Given the description of an element on the screen output the (x, y) to click on. 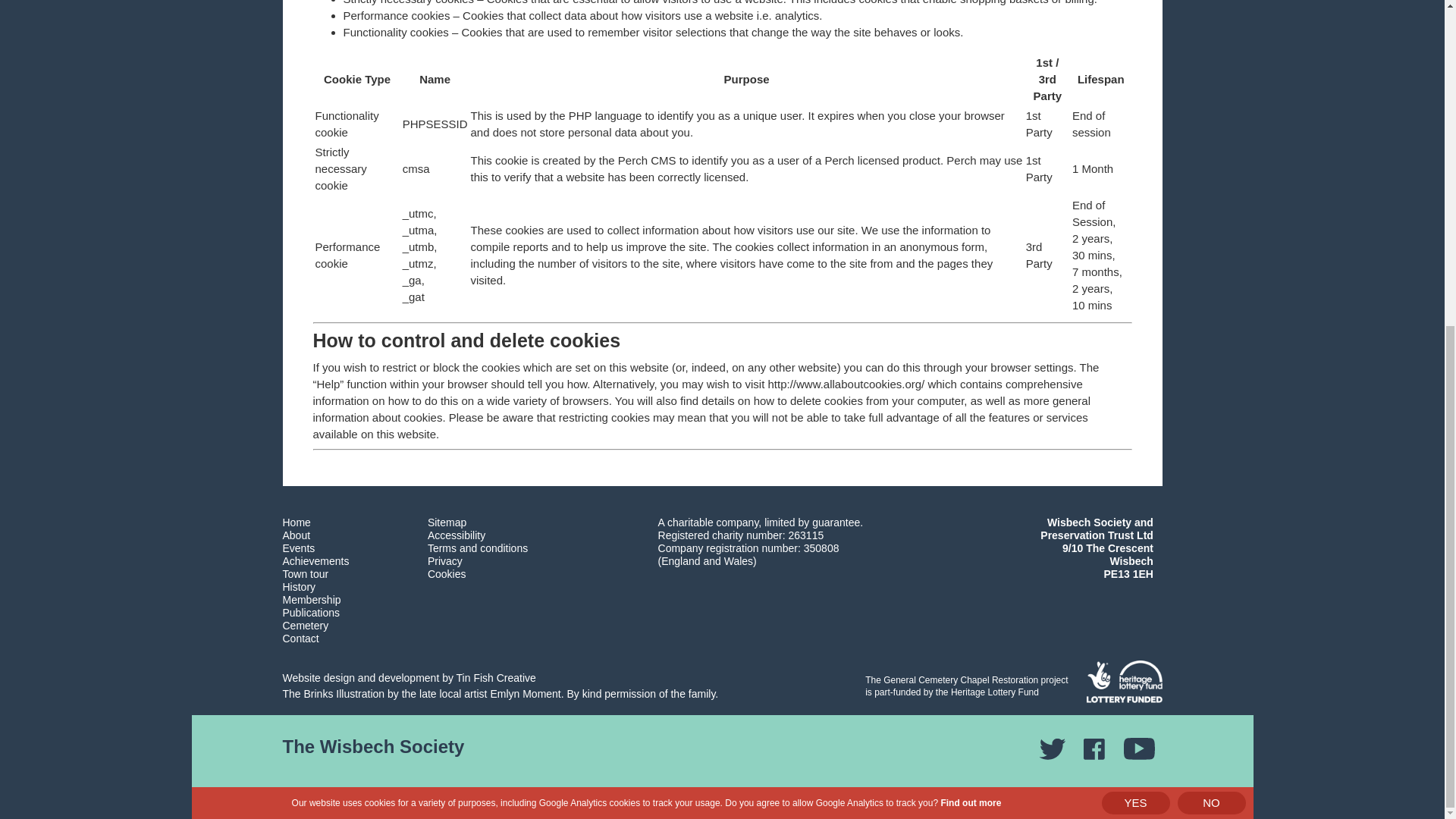
Events (298, 548)
Accessibility (456, 535)
Achievements (315, 561)
Town tour (305, 573)
Contact (300, 638)
History (298, 586)
Privacy (445, 561)
Home (296, 522)
Cookies (446, 573)
Cemetery (305, 625)
